Given the description of an element on the screen output the (x, y) to click on. 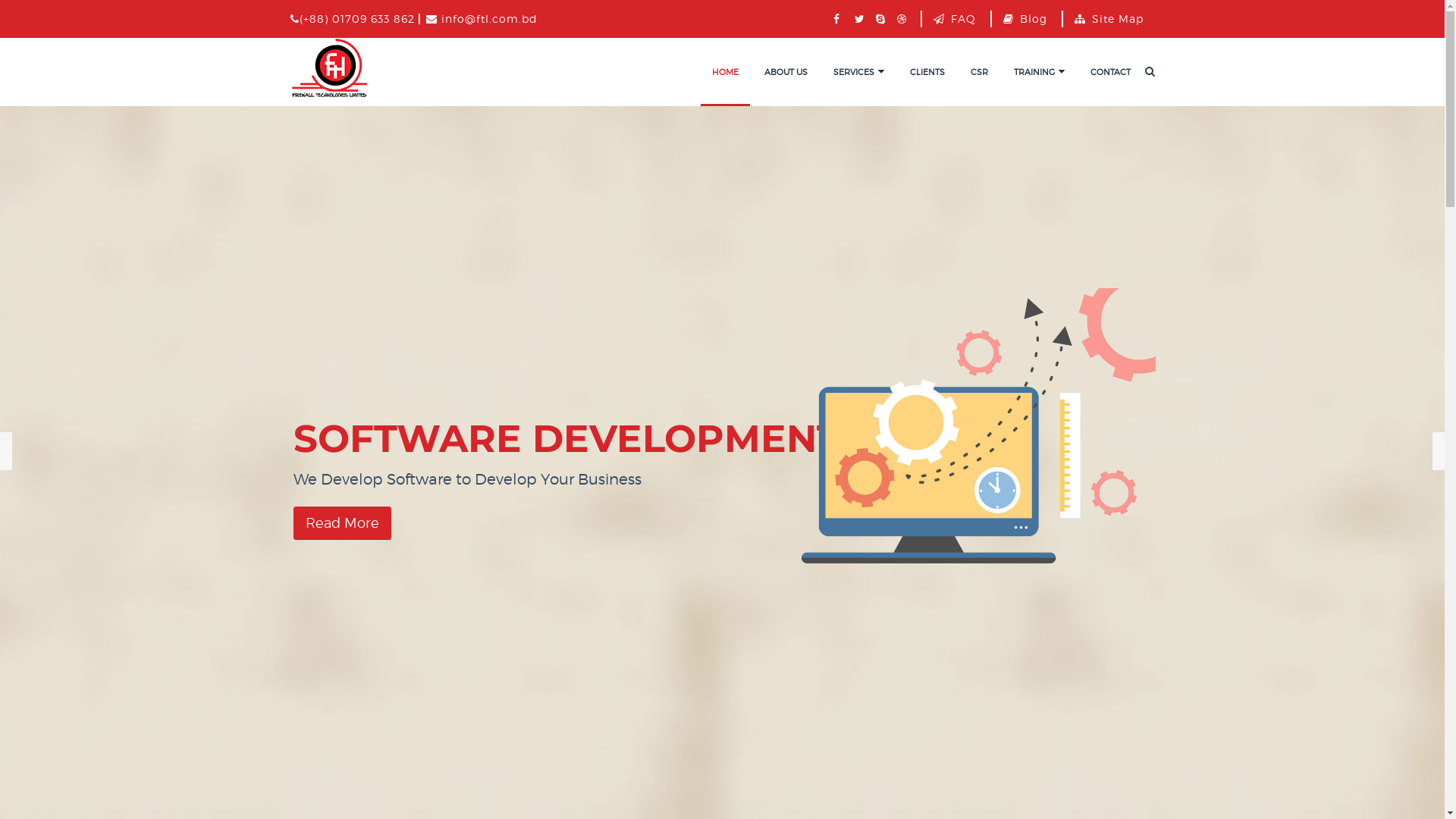
CLIENTS Element type: text (926, 71)
Submit Element type: text (20, 9)
ABOUT US Element type: text (785, 71)
TRAINING Element type: text (1039, 71)
Blog Element type: text (1031, 18)
HOME Element type: text (724, 71)
SERVICES Element type: text (858, 71)
FAQ Element type: text (960, 18)
Read More Element type: text (342, 522)
Site Map Element type: text (1114, 18)
CSR Element type: text (978, 71)
CONTACT Element type: text (1109, 71)
